Given the description of an element on the screen output the (x, y) to click on. 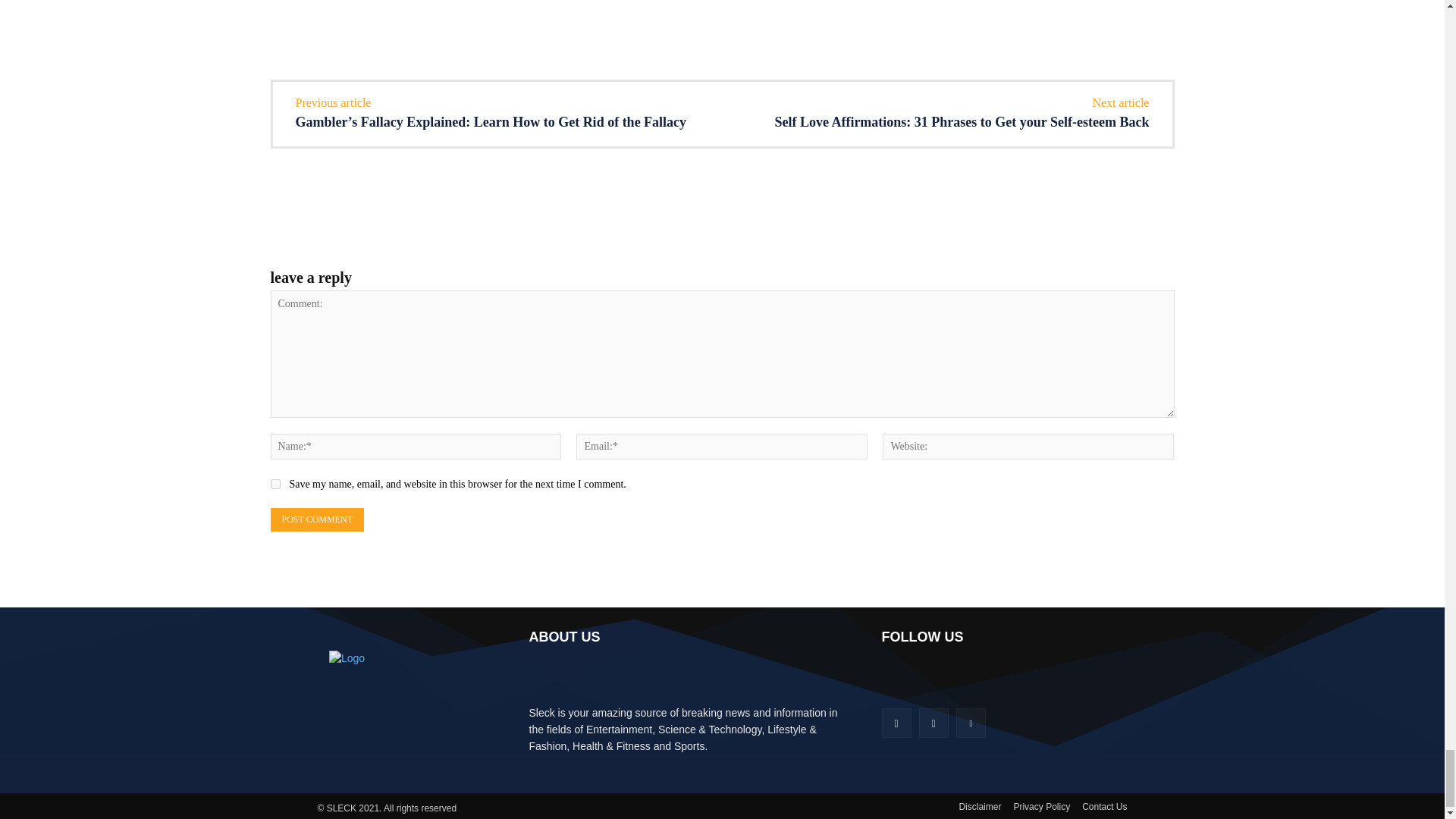
yes (274, 483)
Post Comment (315, 519)
